Given the description of an element on the screen output the (x, y) to click on. 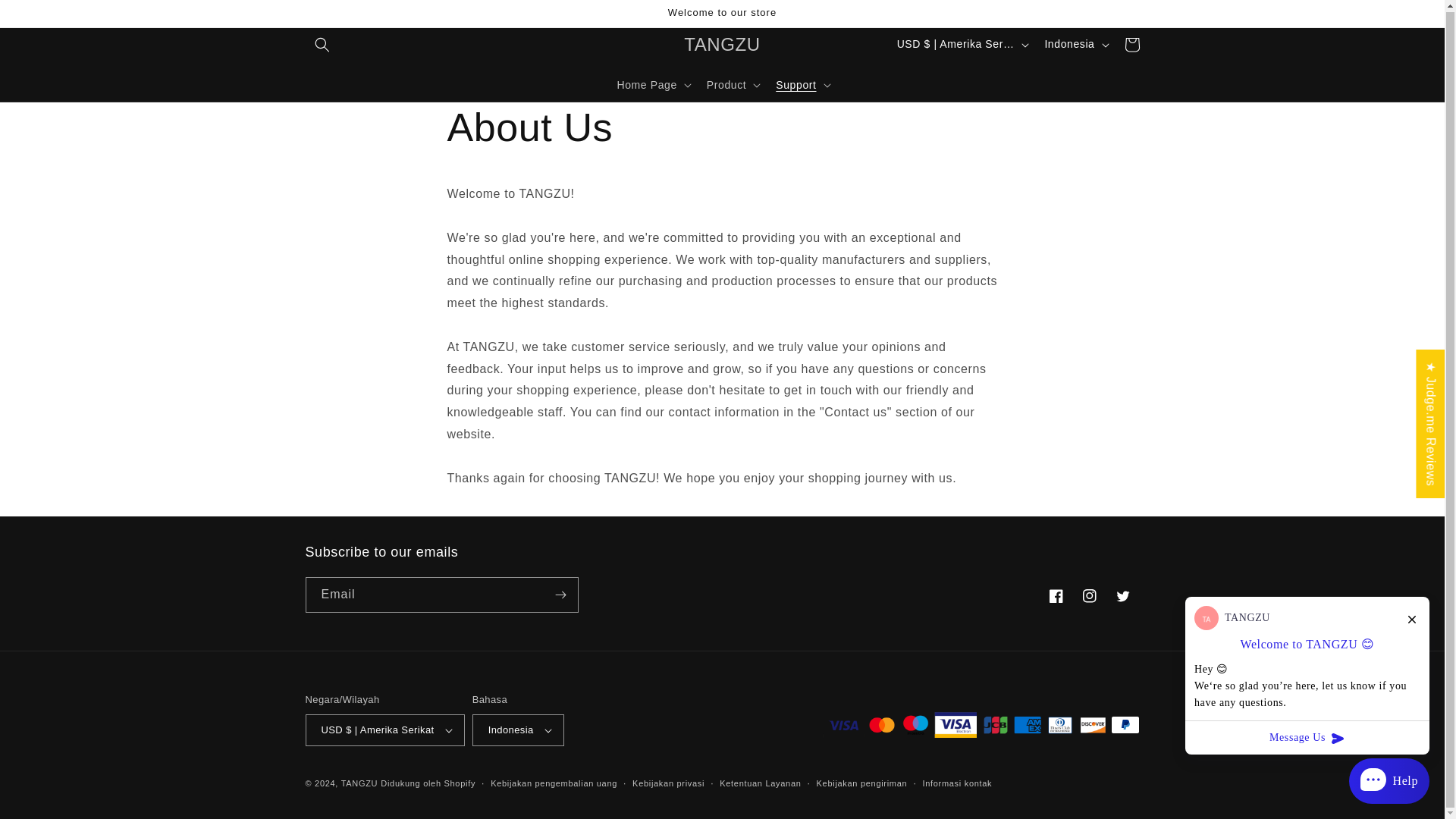
Langsung ke konten (45, 17)
